Given the description of an element on the screen output the (x, y) to click on. 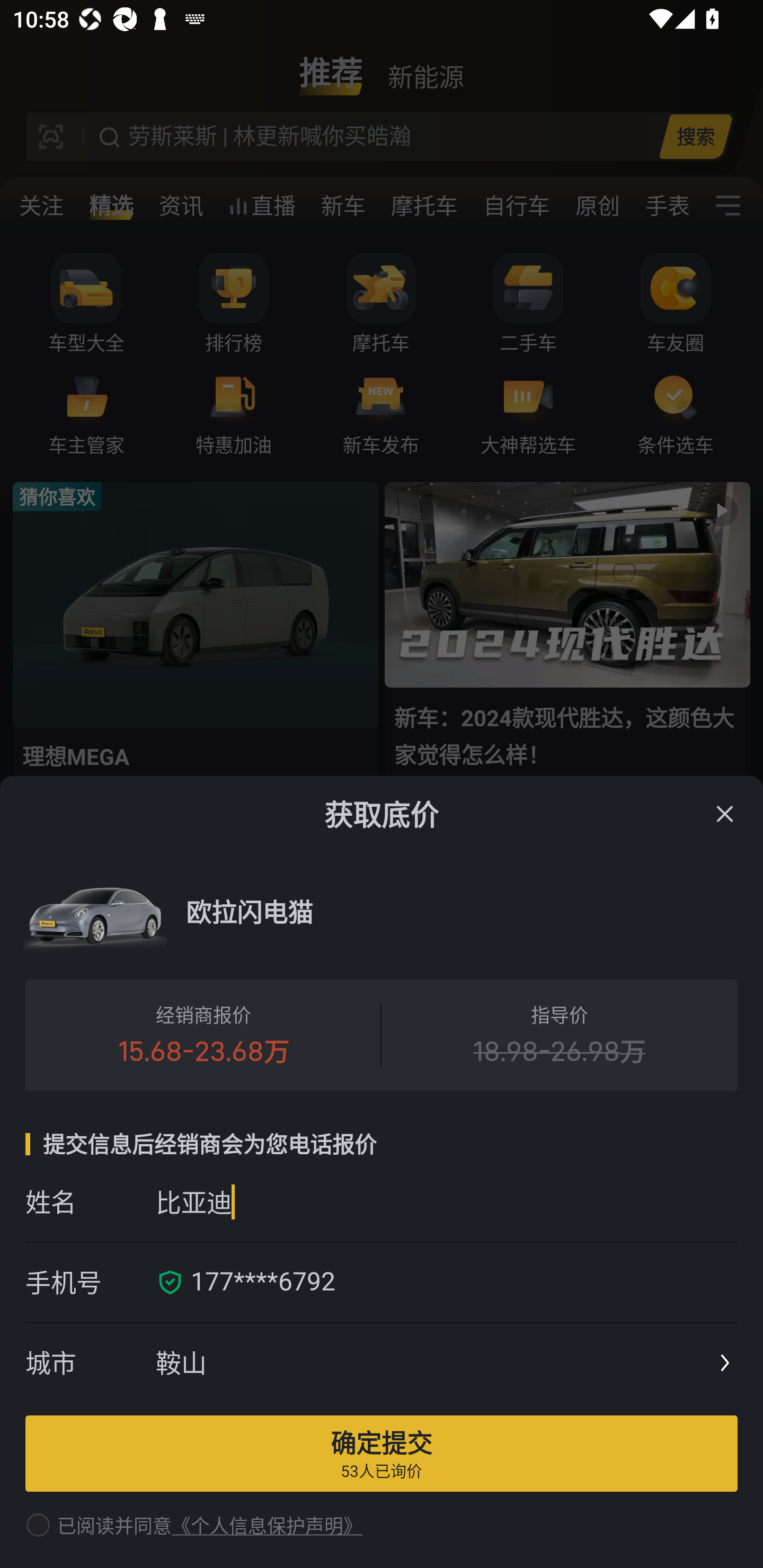
 (724, 813)
姓名 (90, 1201)
比亚迪 (446, 1201)
手机号 (90, 1282)
177****6792 (457, 1282)
城市 鞍山  (381, 1363)
确定提交 53人已询价 (381, 1453)
